Given the description of an element on the screen output the (x, y) to click on. 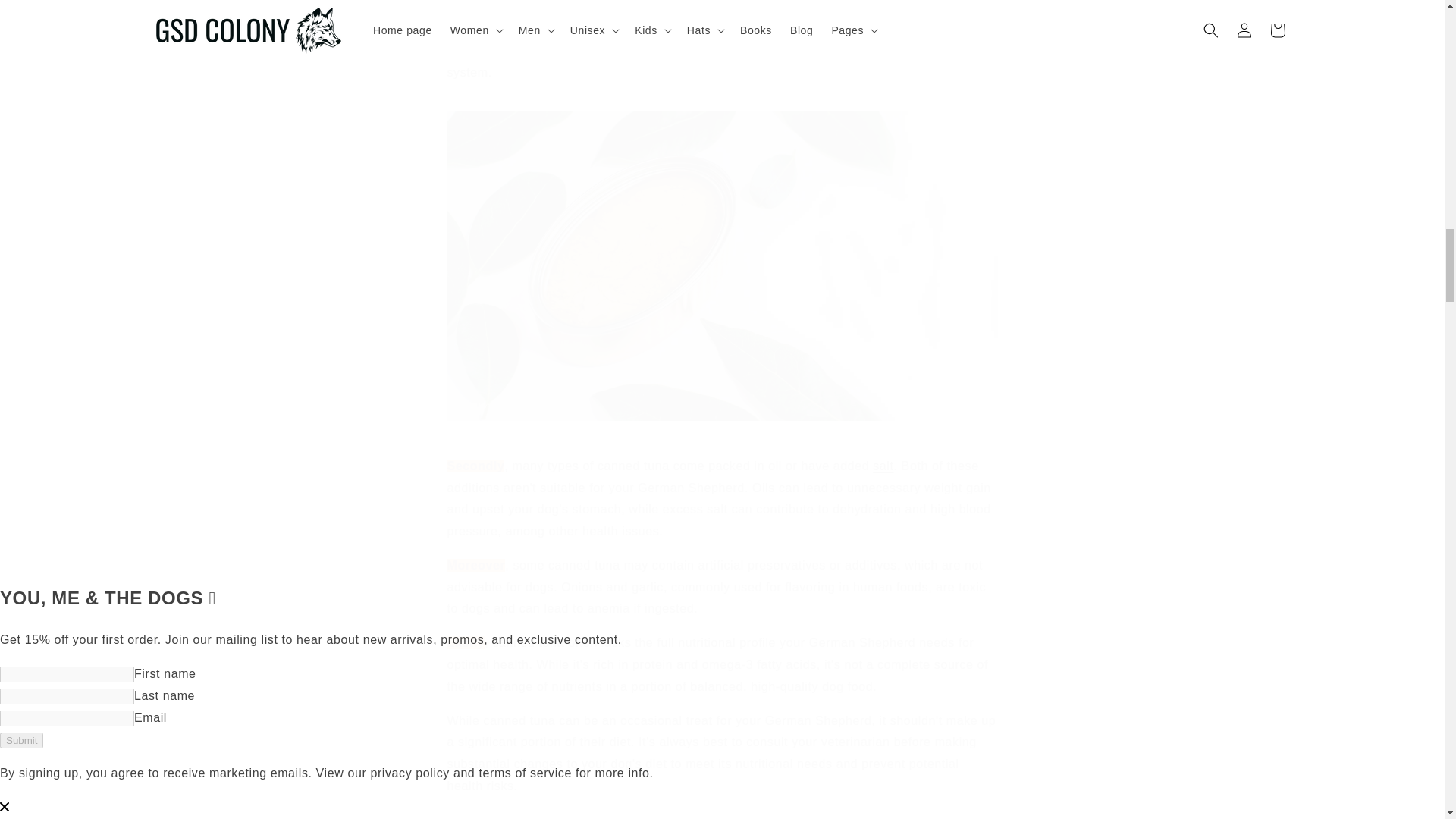
Can Dogs Eat Salt? (882, 465)
